Given the description of an element on the screen output the (x, y) to click on. 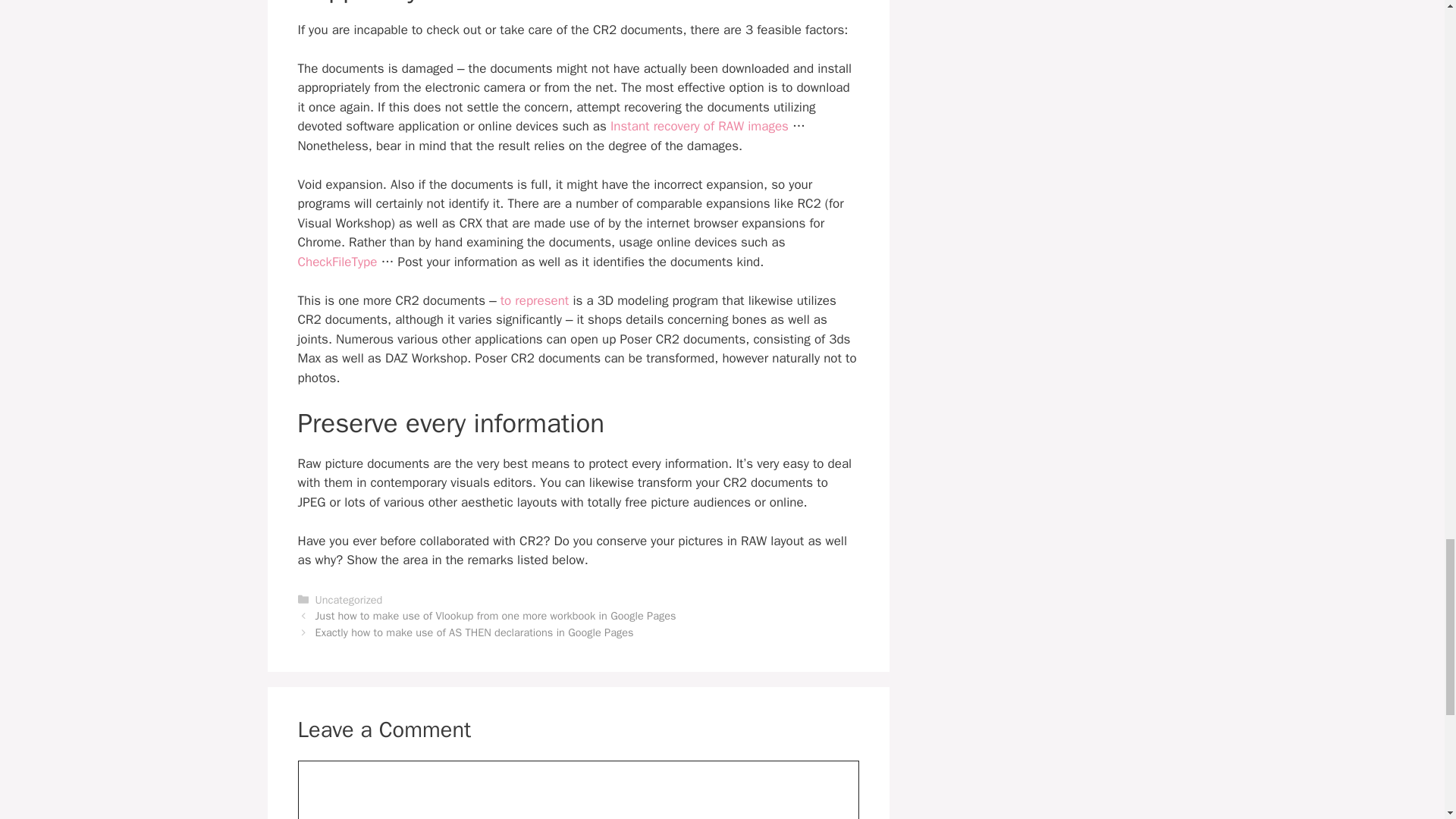
to represent (534, 300)
CheckFileType (337, 261)
Instant recovery of RAW images (699, 125)
